Given the description of an element on the screen output the (x, y) to click on. 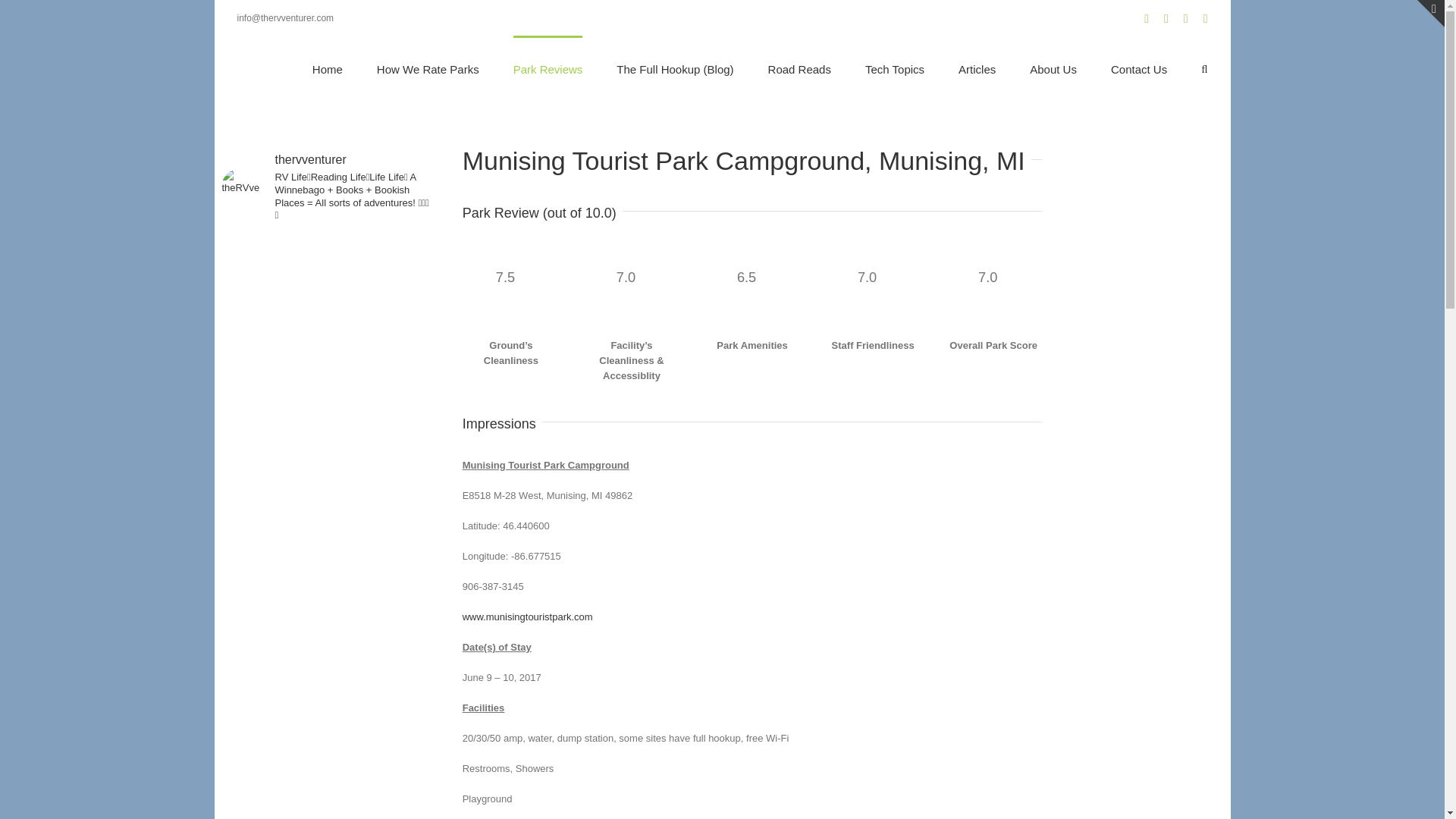
Park Reviews (548, 68)
How We Rate Parks (428, 68)
Munising Tourist Park Campground, Munising, MI (752, 173)
